Given the description of an element on the screen output the (x, y) to click on. 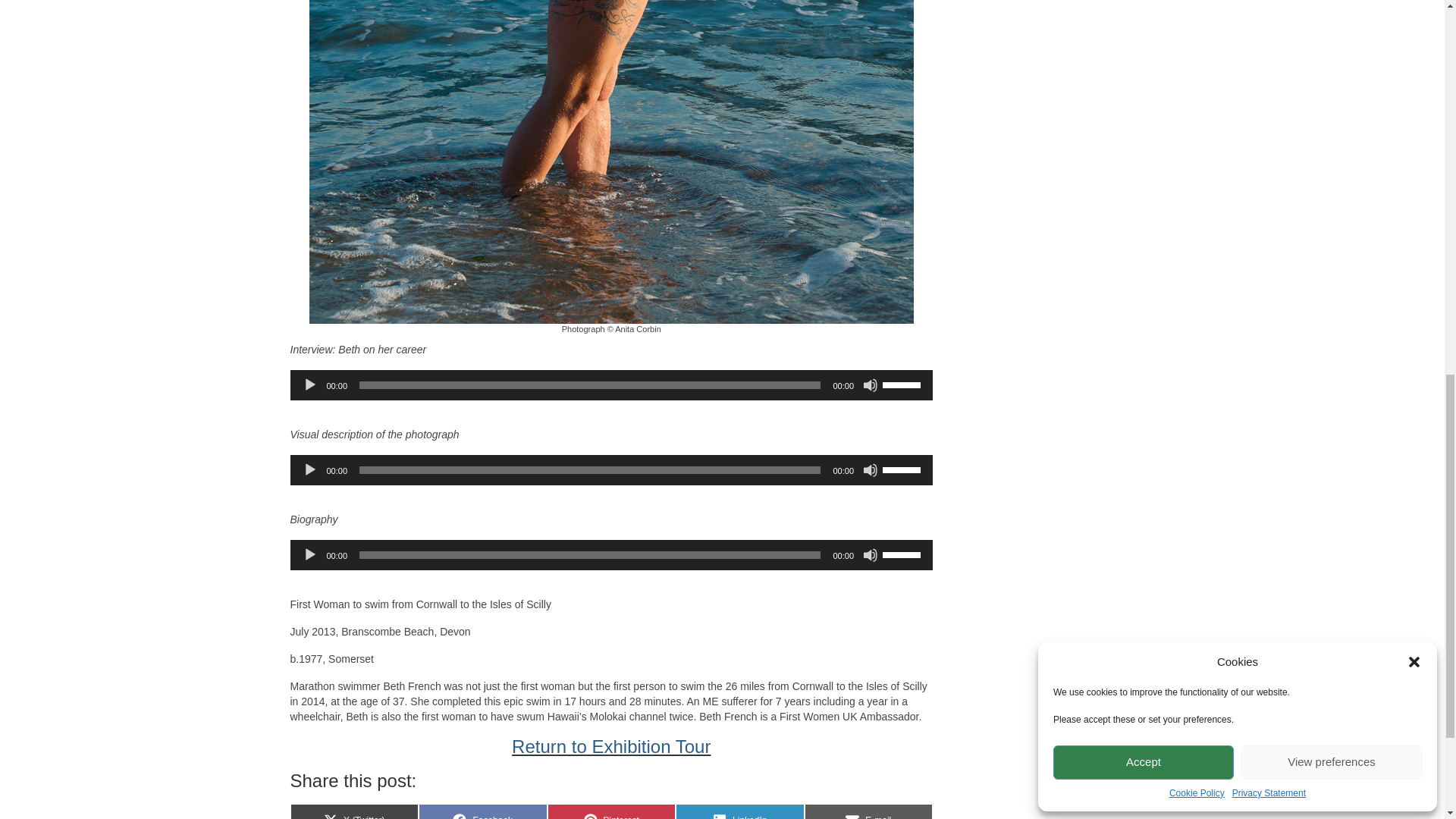
Mute (870, 469)
Play (309, 385)
Play (309, 554)
Return to Exhibition Tour (611, 746)
Mute (870, 554)
Play (309, 469)
Mute (870, 385)
